Given the description of an element on the screen output the (x, y) to click on. 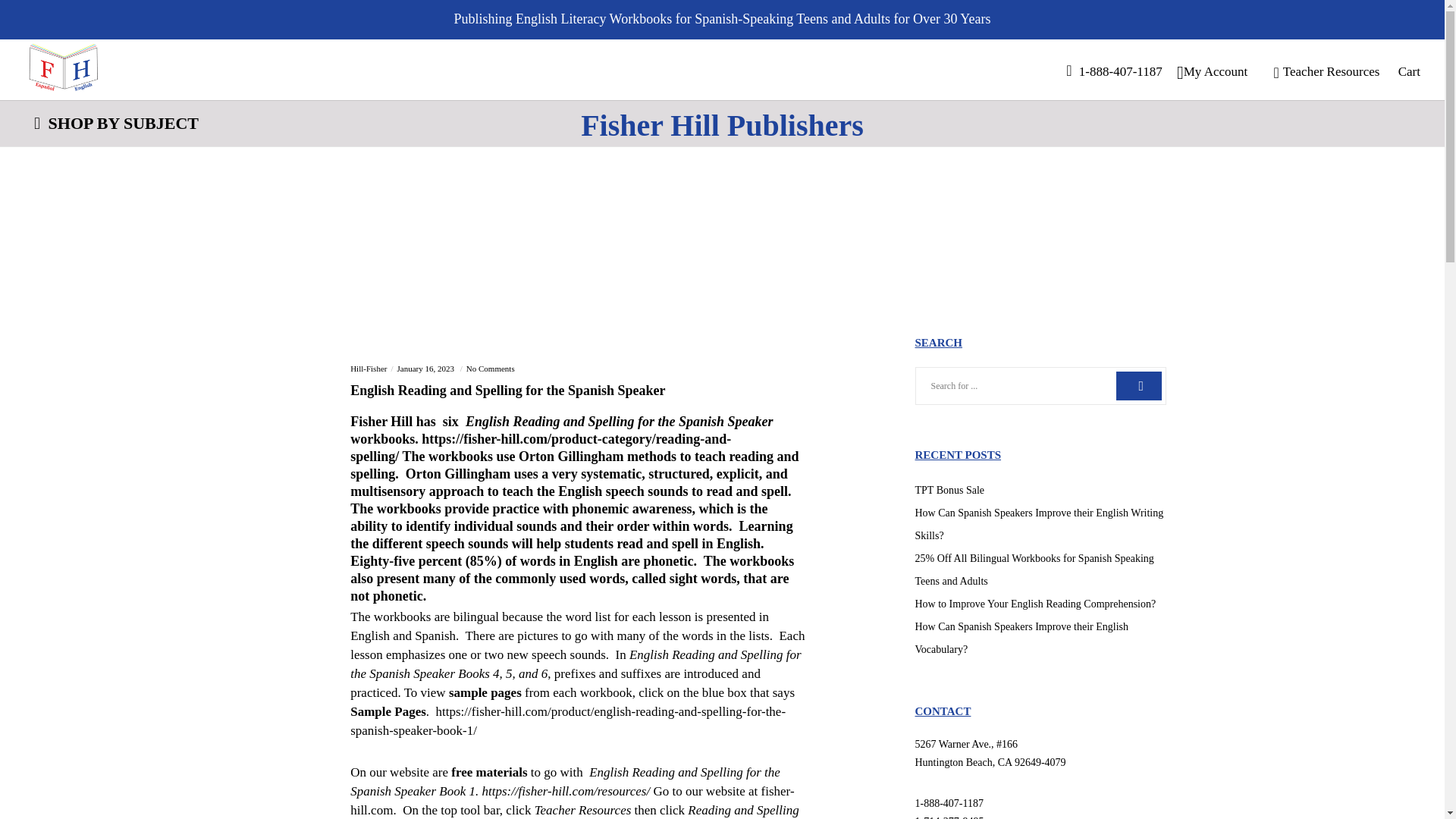
TPT Bonus Sale (949, 490)
fisher-hill.com (571, 800)
My Account (1212, 71)
Cart (1402, 71)
How to Improve Your English Reading Comprehension? (1035, 603)
SHOP BY SUBJECT (116, 123)
English Reading and Spelling for the Spanish Speaker (577, 399)
My Basket (1402, 71)
Teacher Resources (1320, 71)
1-888-407-1187 (1107, 71)
How Can Spanish Speakers Improve their English Vocabulary? (1021, 637)
